Given the description of an element on the screen output the (x, y) to click on. 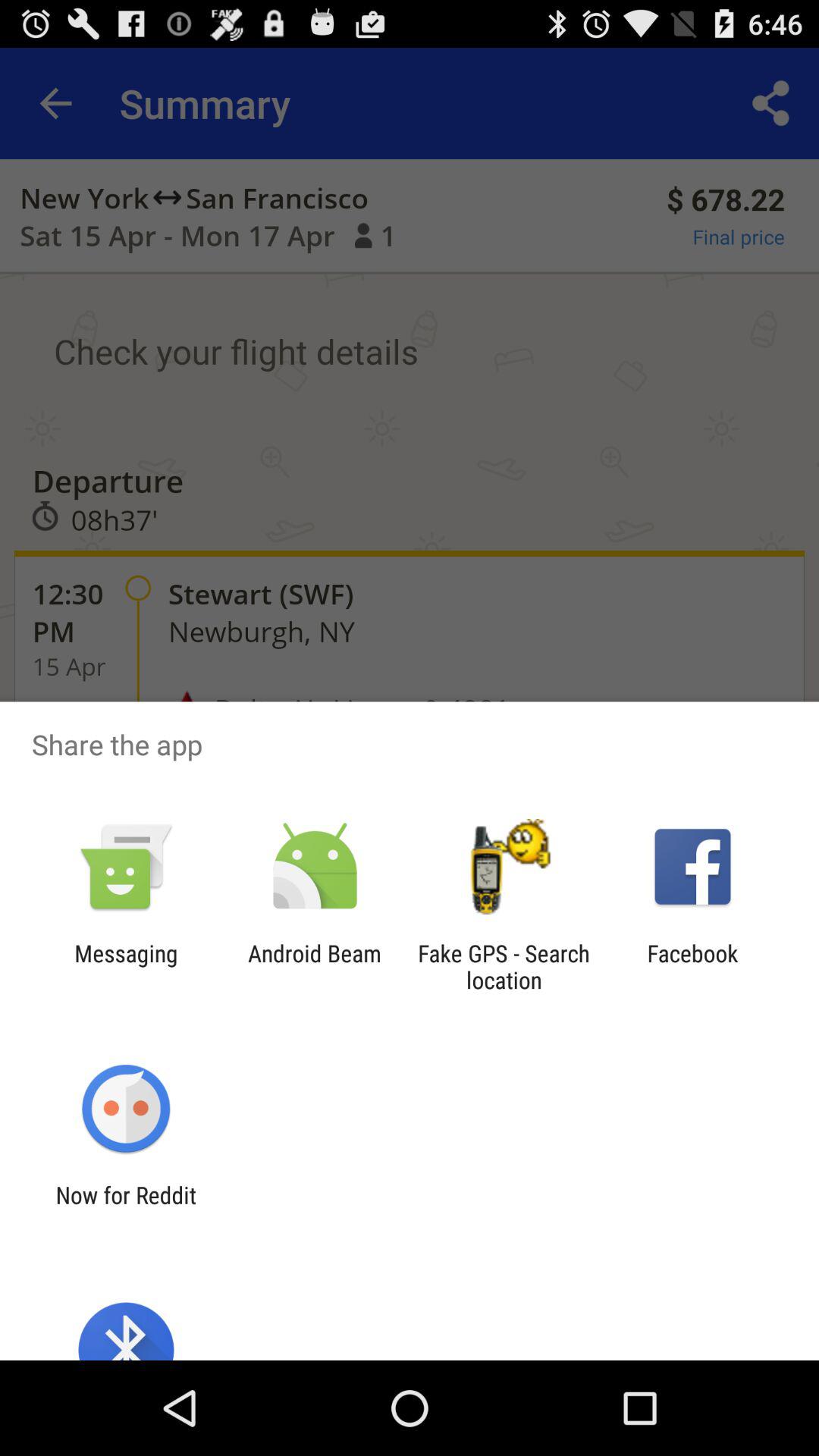
press fake gps search (503, 966)
